Given the description of an element on the screen output the (x, y) to click on. 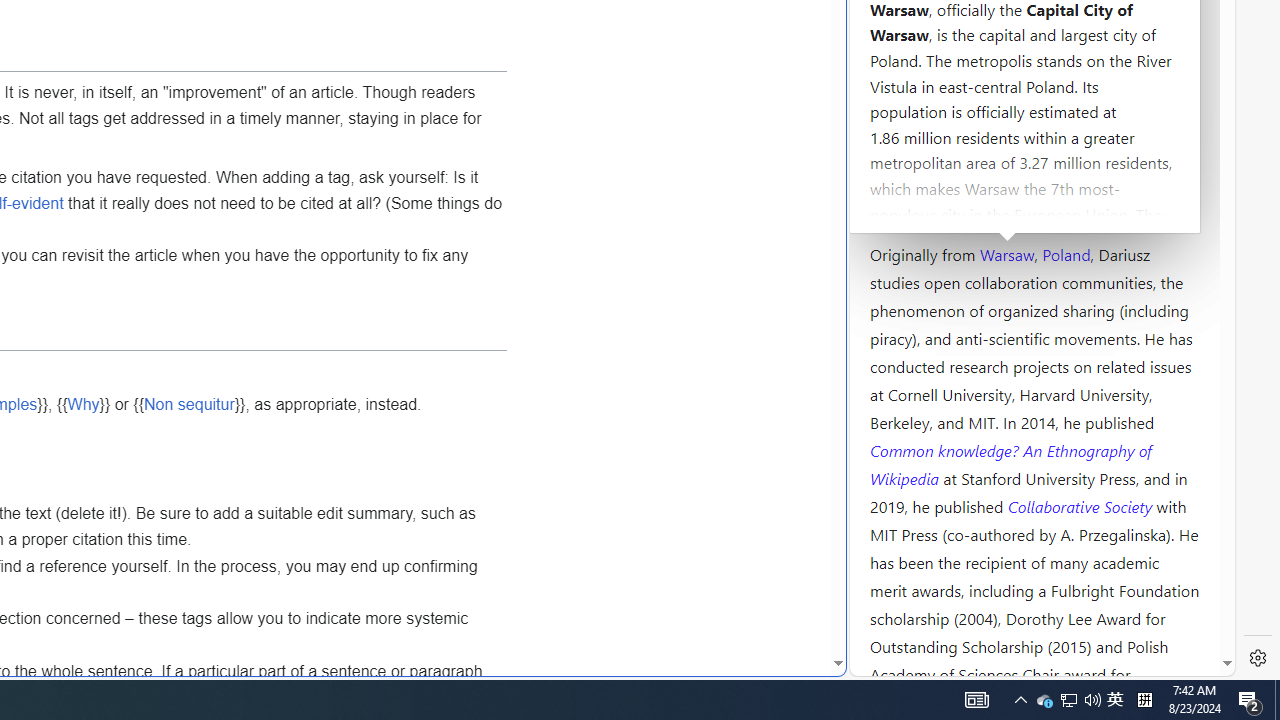
Collaborative Society  (1082, 505)
Kozminski University (1034, 136)
Why (82, 404)
Poland (1065, 253)
